Given the description of an element on the screen output the (x, y) to click on. 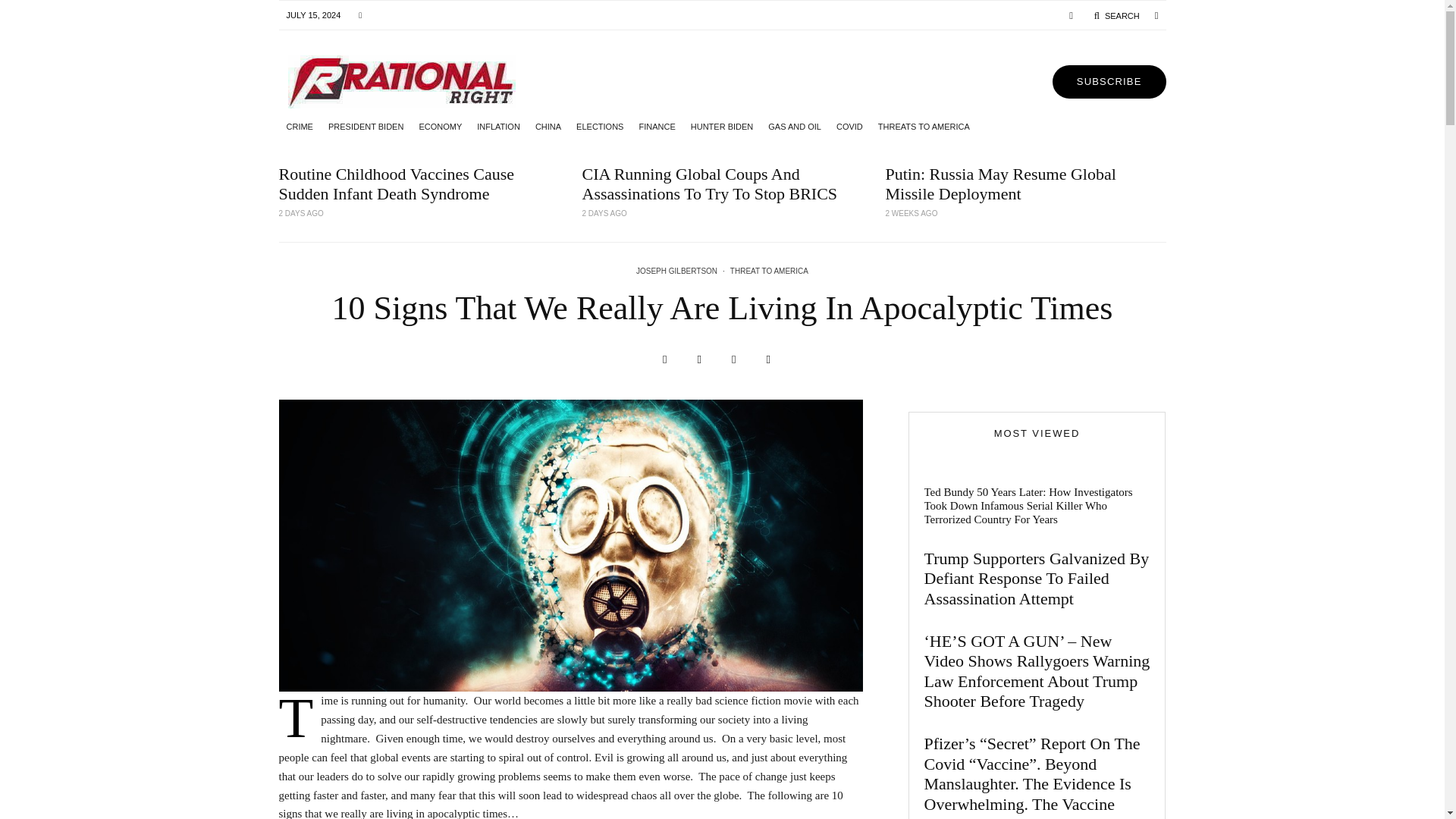
SUBSCRIBE (1109, 81)
PRESIDENT BIDEN (365, 126)
SEARCH (1116, 15)
ECONOMY (439, 126)
CHINA (548, 126)
INFLATION (497, 126)
CRIME (299, 126)
